Given the description of an element on the screen output the (x, y) to click on. 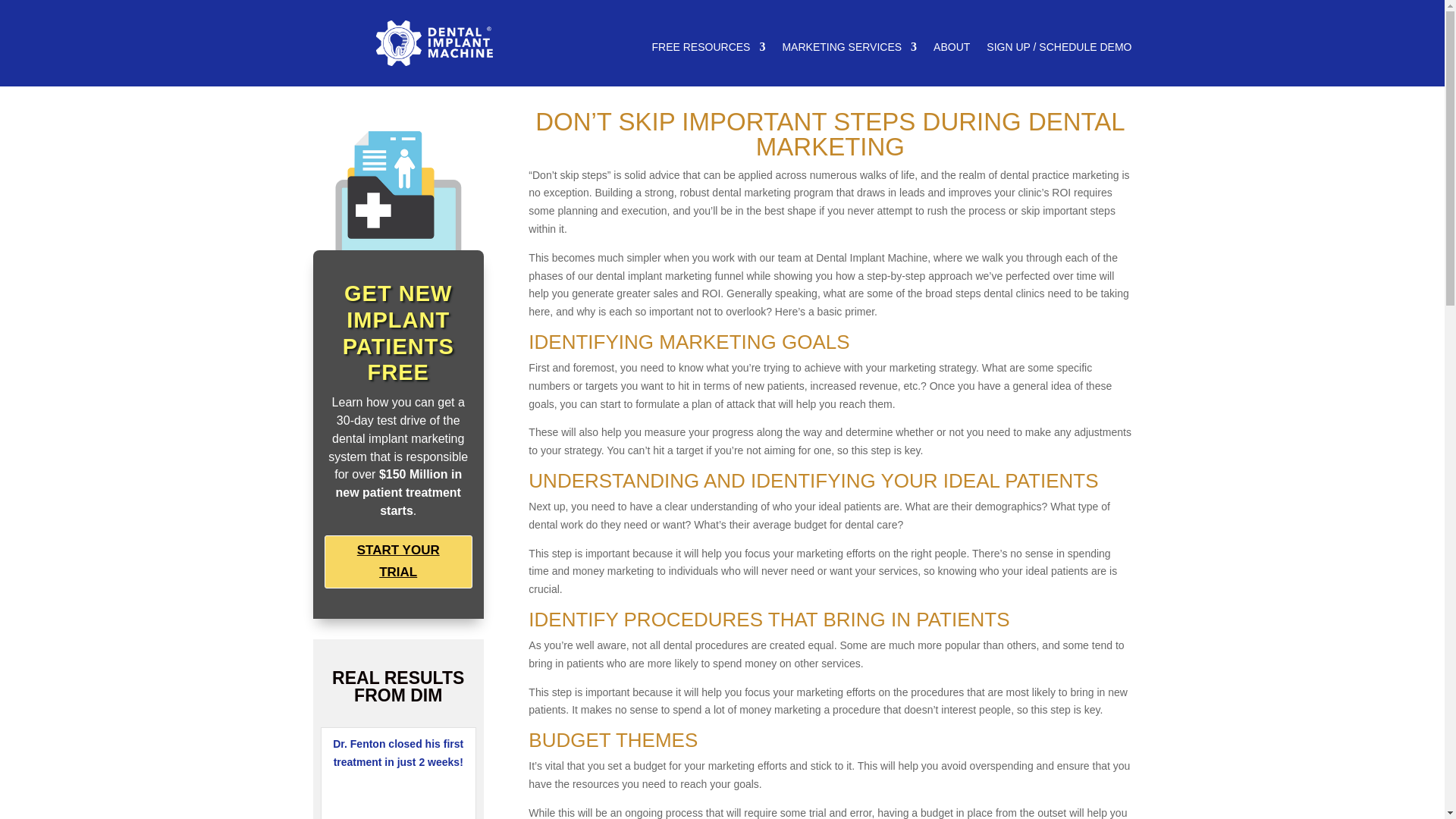
FREE RESOURCES (708, 49)
ABOUT (951, 49)
Dr. Fenton Testimonial (397, 795)
MARKETING SERVICES (849, 49)
White DIM Official Logo (434, 43)
START YOUR TRIAL (397, 561)
